Given the description of an element on the screen output the (x, y) to click on. 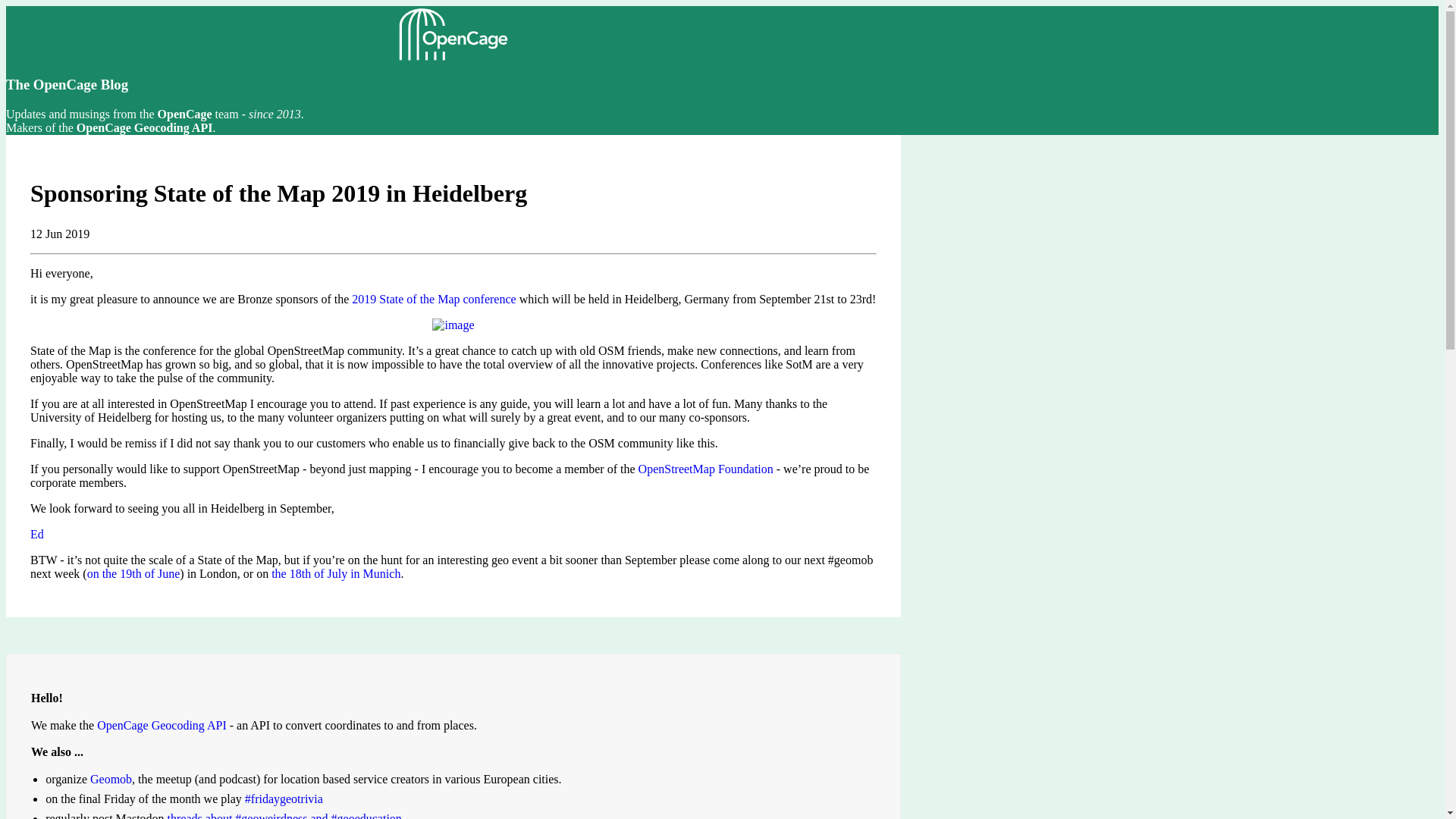
OpenCage Geocoding API (162, 725)
OpenStreetMap Foundation (706, 468)
OpenCage Geocoding API (144, 127)
the 18th of July in Munich (335, 573)
2019 State of the Map conference (433, 298)
Ed (36, 533)
OpenCage (184, 113)
on the 19th of June (133, 573)
Geomob (111, 779)
